Given the description of an element on the screen output the (x, y) to click on. 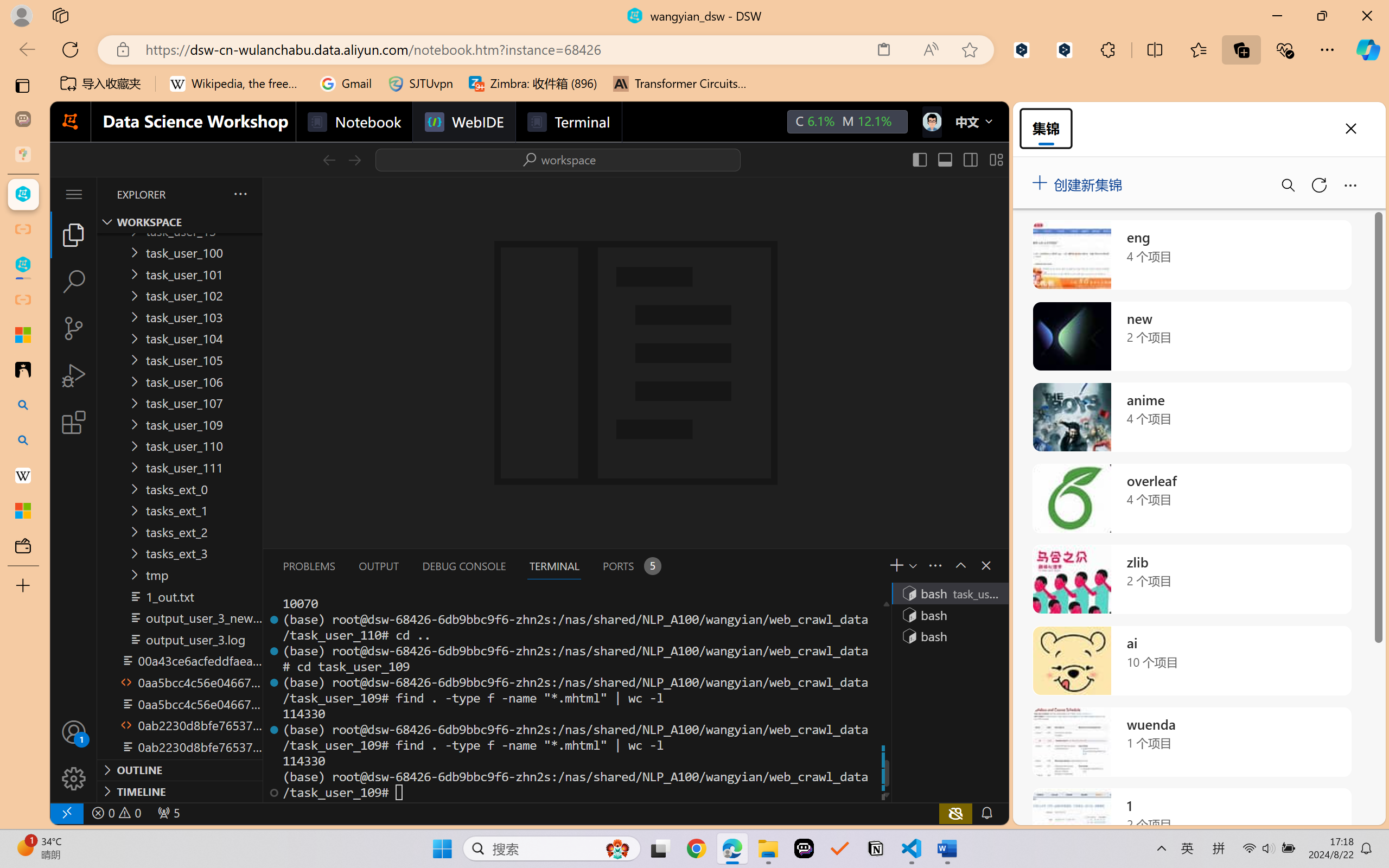
Transformer Circuits Thread (680, 83)
Views and More Actions... (934, 565)
Run and Debug (Ctrl+Shift+D) (73, 375)
Terminal (Ctrl+`) (553, 565)
